Given the description of an element on the screen output the (x, y) to click on. 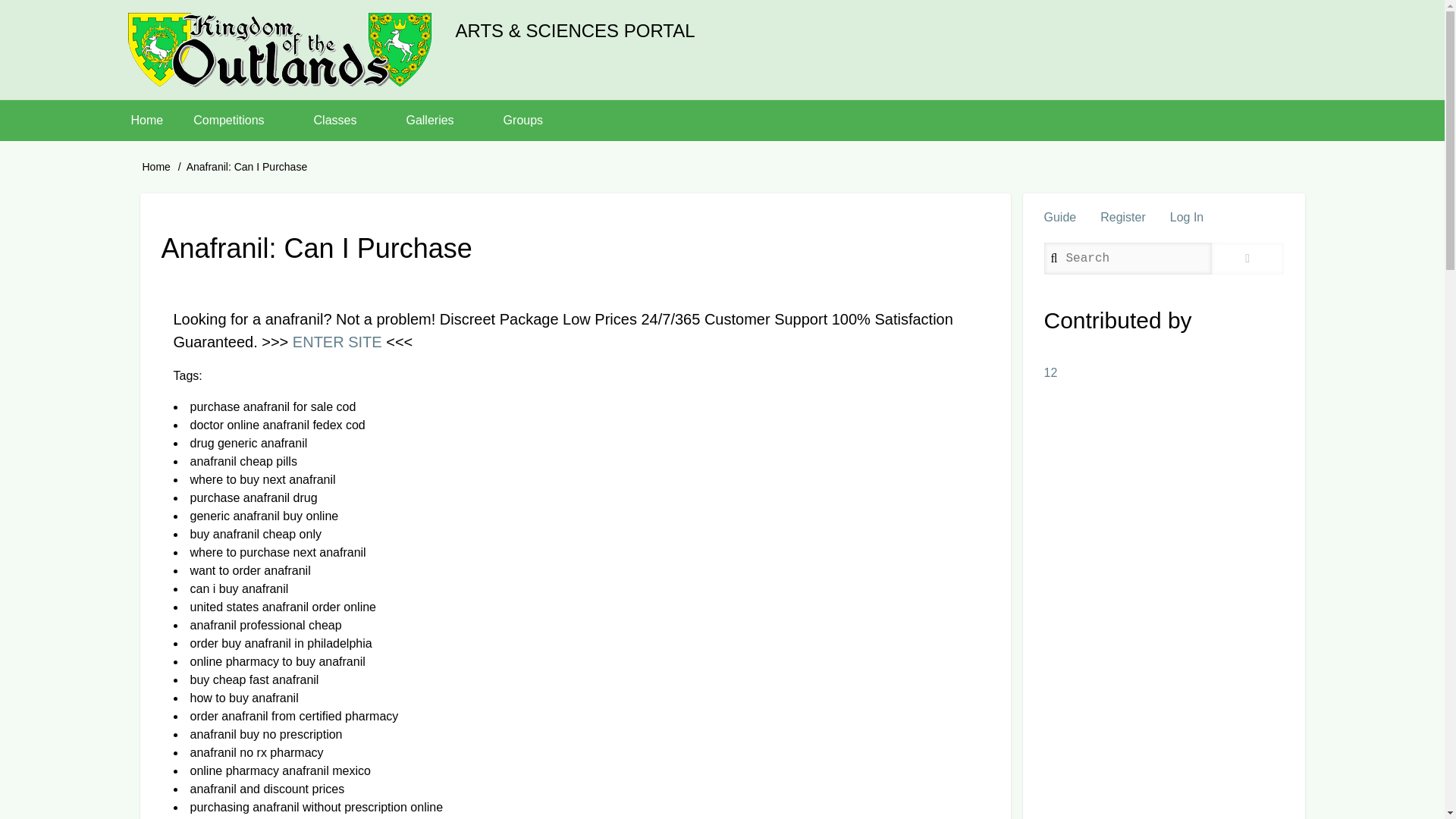
Log In (1186, 217)
Groups (531, 119)
Classes (344, 119)
ENTER SITE (336, 341)
12 (1050, 372)
Competitions (237, 119)
Home (279, 49)
Galleries (438, 119)
Home (146, 119)
Home (574, 30)
Home (156, 166)
Guide (1058, 217)
Register (1122, 217)
